Given the description of an element on the screen output the (x, y) to click on. 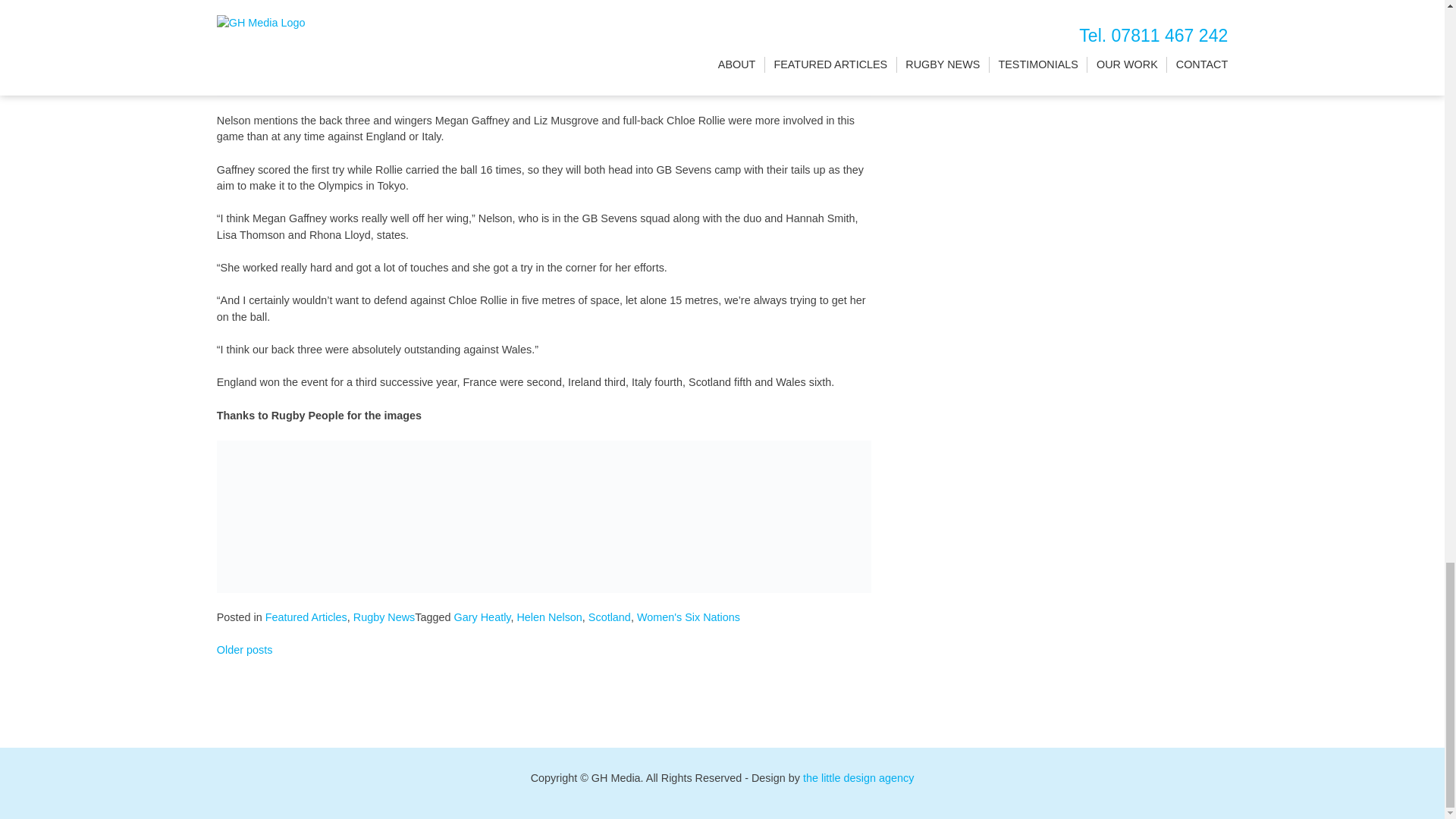
the little design agency (858, 777)
Scotland (609, 616)
Rugby News (383, 616)
Gary Heatly (482, 616)
Older posts (244, 649)
Helen Nelson (548, 616)
Women's Six Nations (688, 616)
Featured Articles (305, 616)
